Given the description of an element on the screen output the (x, y) to click on. 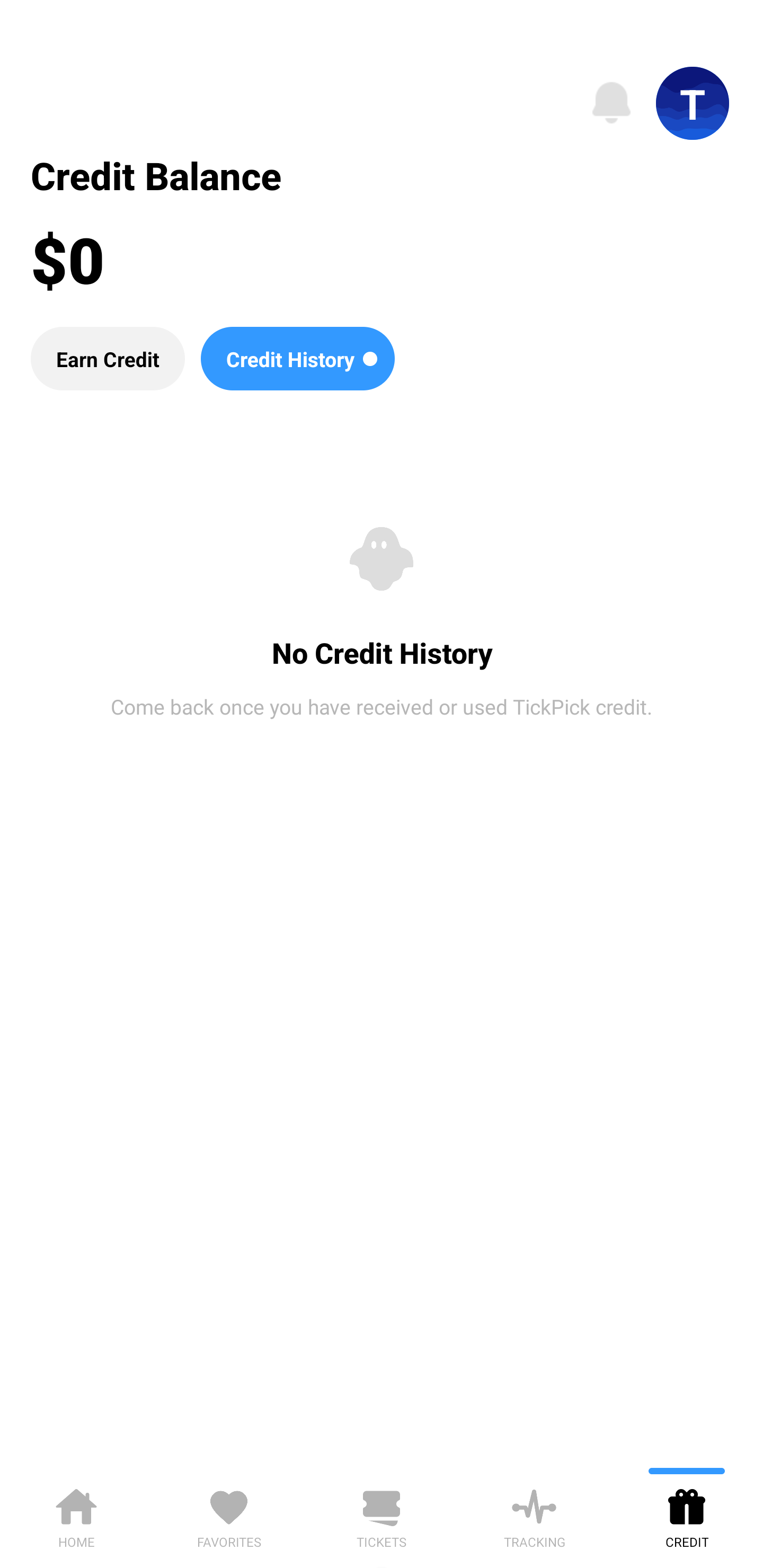
T (692, 103)
Earn Credit (107, 358)
Credit History (297, 358)
HOME (76, 1515)
FAVORITES (228, 1515)
TICKETS (381, 1515)
TRACKING (533, 1515)
CREDIT (686, 1515)
